Given the description of an element on the screen output the (x, y) to click on. 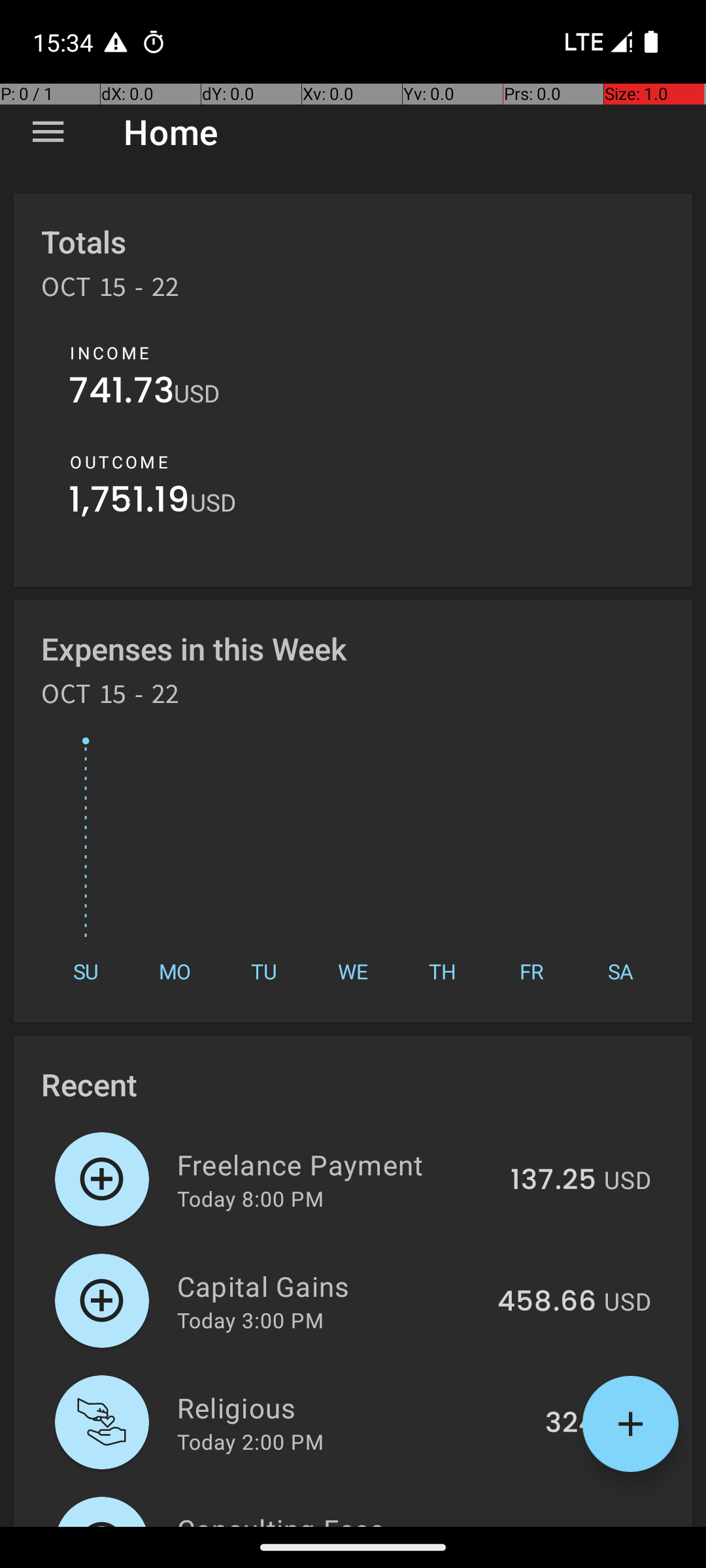
741.73 Element type: android.widget.TextView (120, 393)
1,751.19 Element type: android.widget.TextView (129, 502)
Freelance Payment Element type: android.widget.TextView (336, 1164)
Today 8:00 PM Element type: android.widget.TextView (250, 1198)
137.25 Element type: android.widget.TextView (552, 1180)
Capital Gains Element type: android.widget.TextView (329, 1285)
Today 3:00 PM Element type: android.widget.TextView (250, 1320)
458.66 Element type: android.widget.TextView (546, 1301)
Religious Element type: android.widget.TextView (353, 1407)
Today 2:00 PM Element type: android.widget.TextView (250, 1441)
324 Element type: android.widget.TextView (570, 1423)
Consulting Fees Element type: android.widget.TextView (334, 1518)
145.82 Element type: android.widget.TextView (551, 1524)
